Given the description of an element on the screen output the (x, y) to click on. 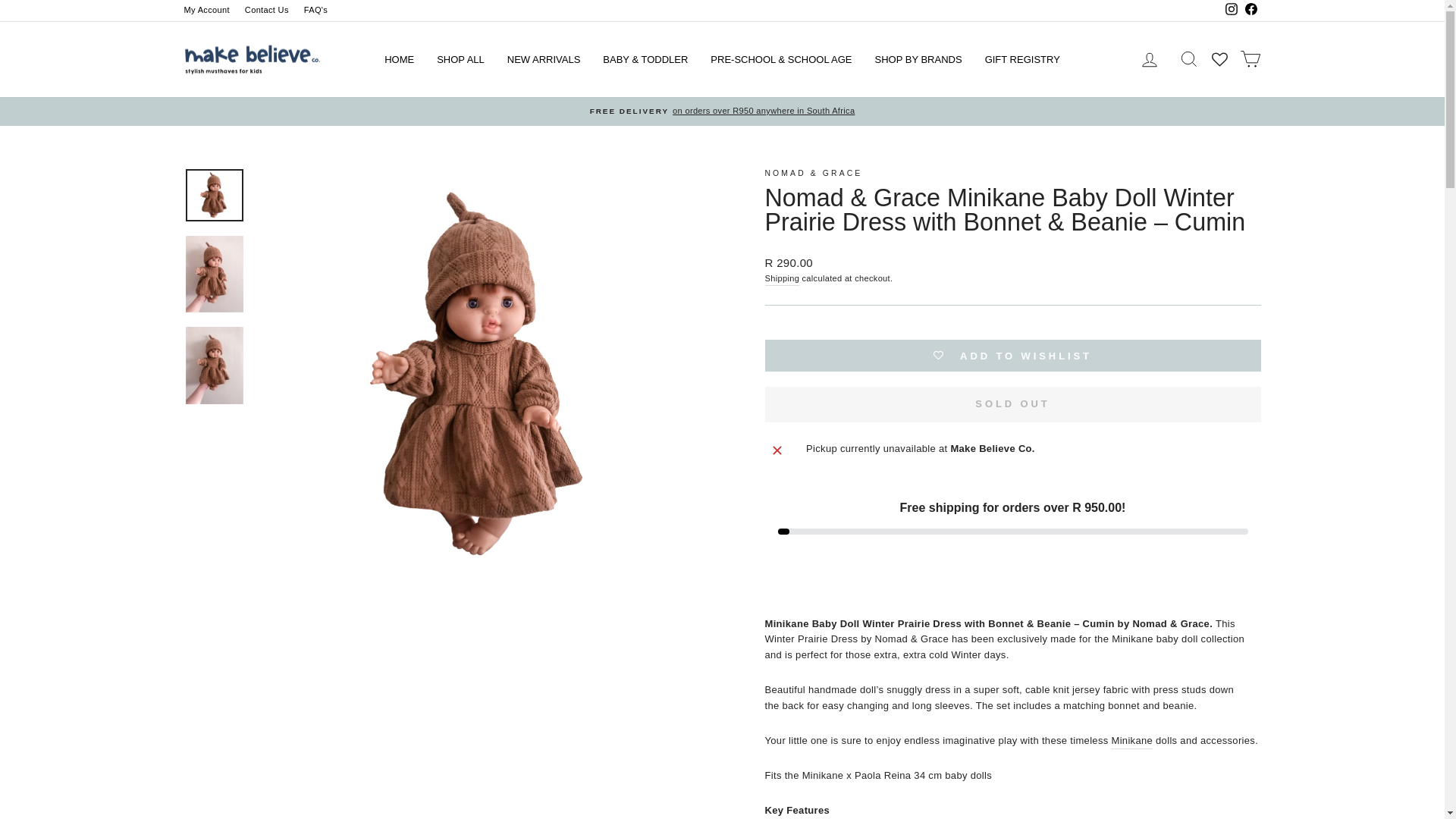
Minikane (1131, 741)
Make Believe Co. on Instagram (1230, 10)
Make Believe Co. on Facebook (1250, 10)
